Given the description of an element on the screen output the (x, y) to click on. 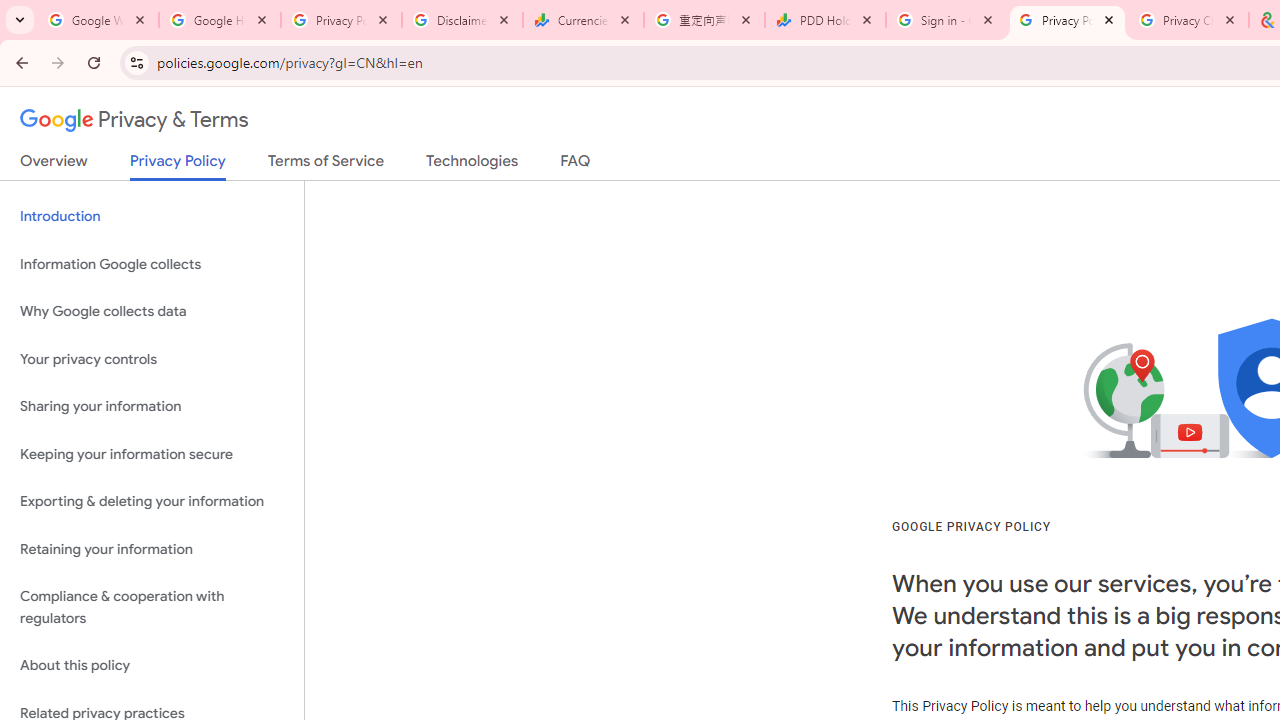
Privacy Checkup (1188, 20)
Sign in - Google Accounts (946, 20)
